Given the description of an element on the screen output the (x, y) to click on. 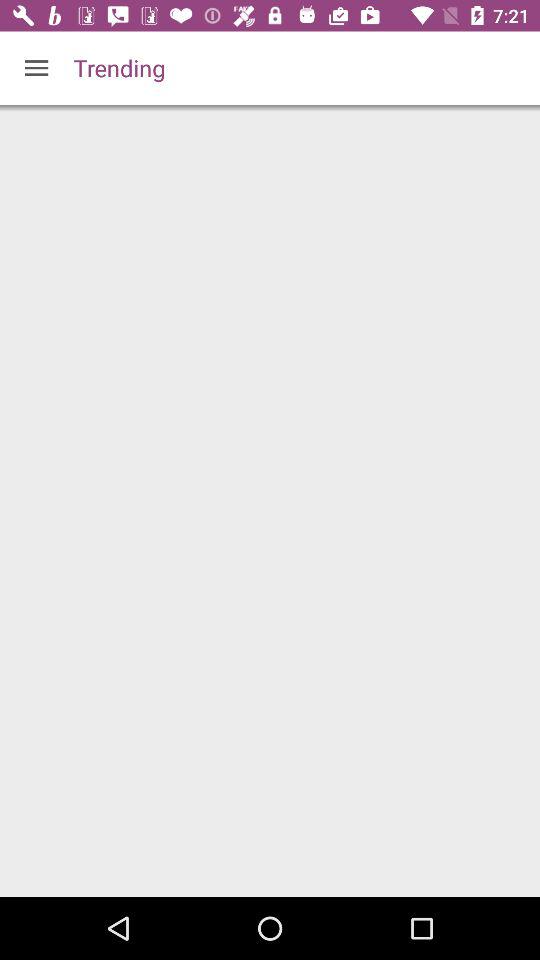
turn off the item to the left of the trending icon (36, 68)
